Given the description of an element on the screen output the (x, y) to click on. 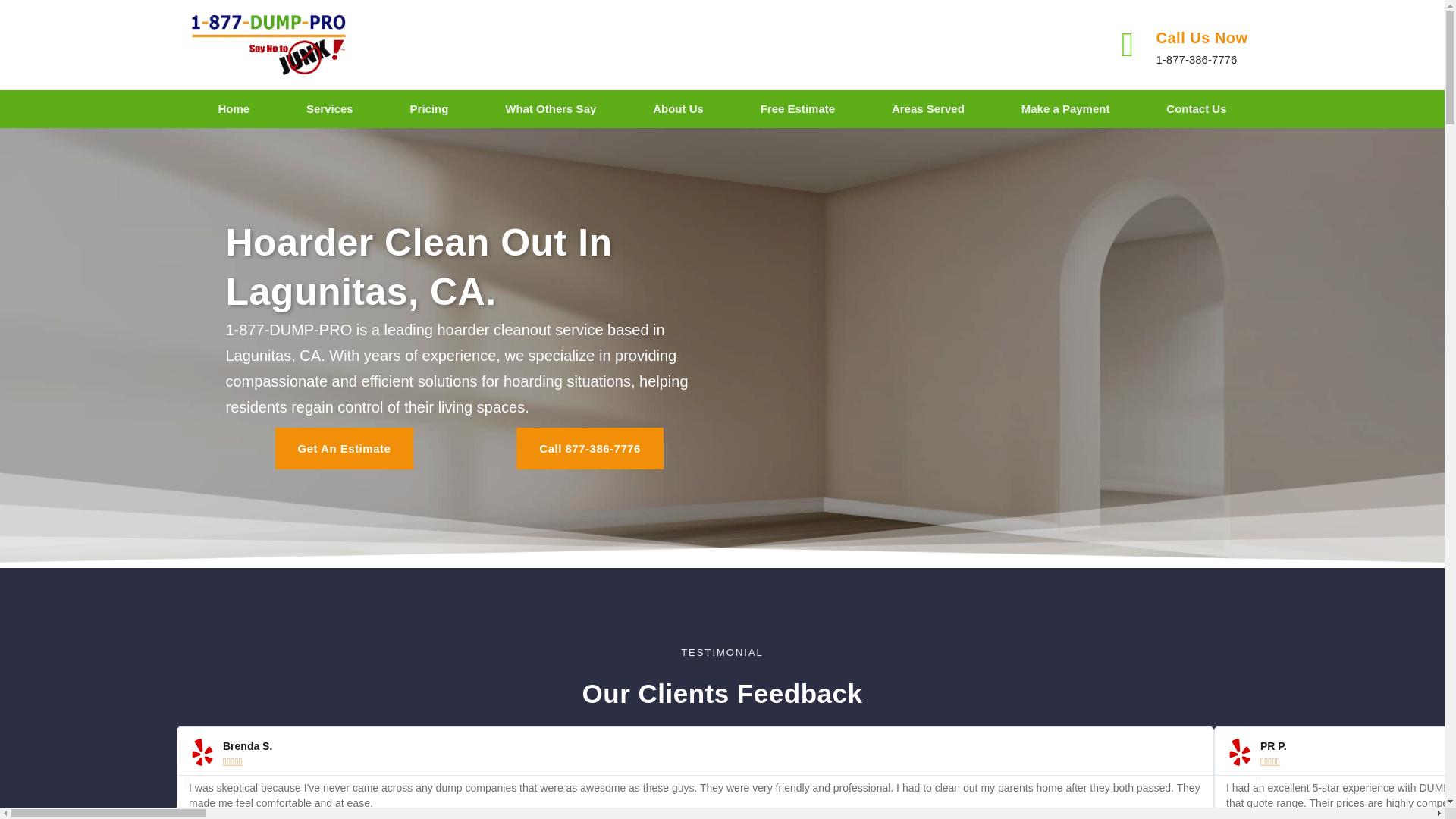
Home (233, 109)
Call Us Now (1201, 37)
Make a Payment (1065, 109)
What Others Say (550, 109)
Services (329, 109)
About Us (678, 109)
Areas Served (927, 109)
Free Estimate (797, 109)
Contact Us (1196, 109)
Pricing (429, 109)
